Given the description of an element on the screen output the (x, y) to click on. 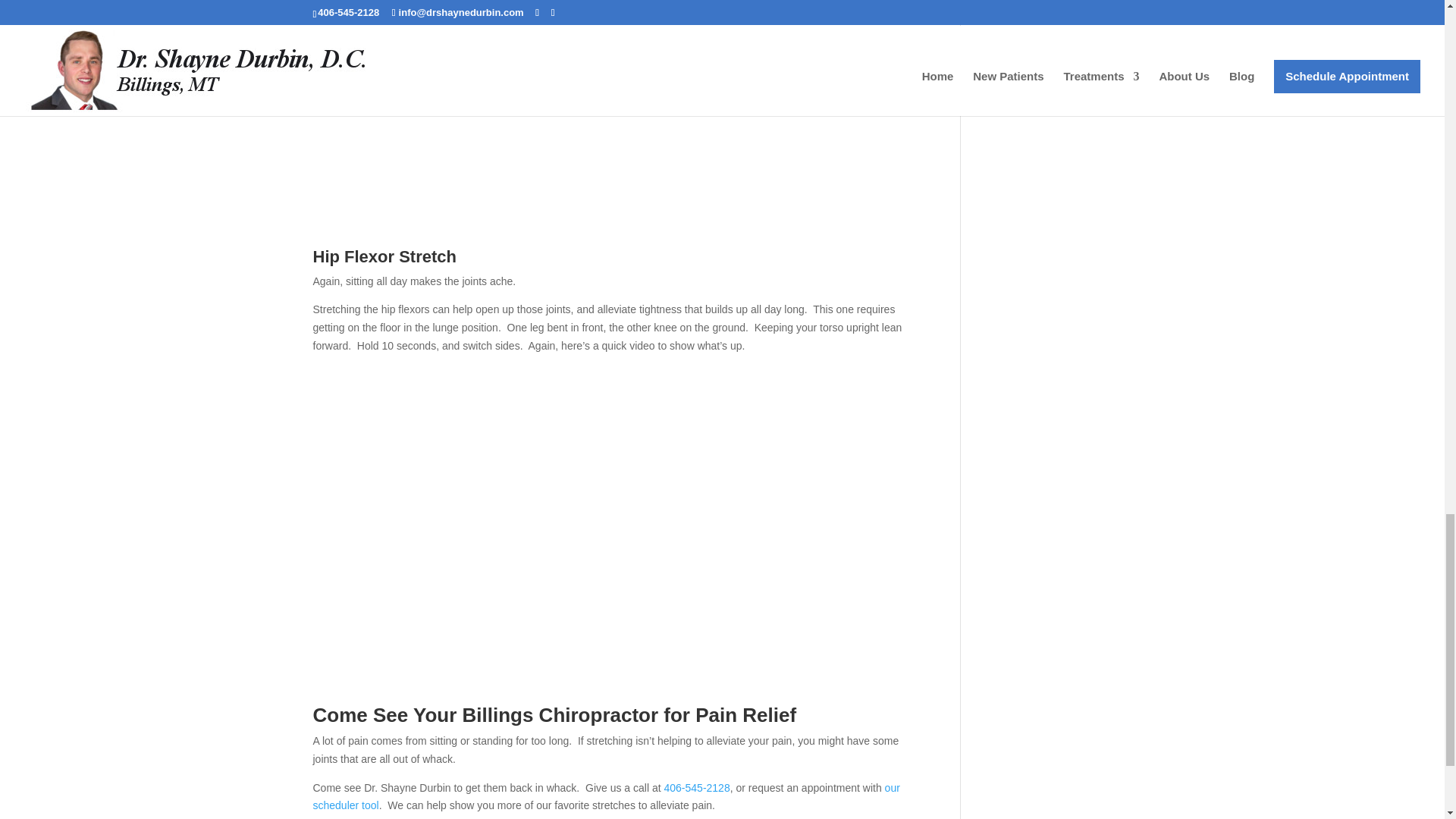
406-545-2128 (696, 787)
our scheduler tool (606, 797)
